Given the description of an element on the screen output the (x, y) to click on. 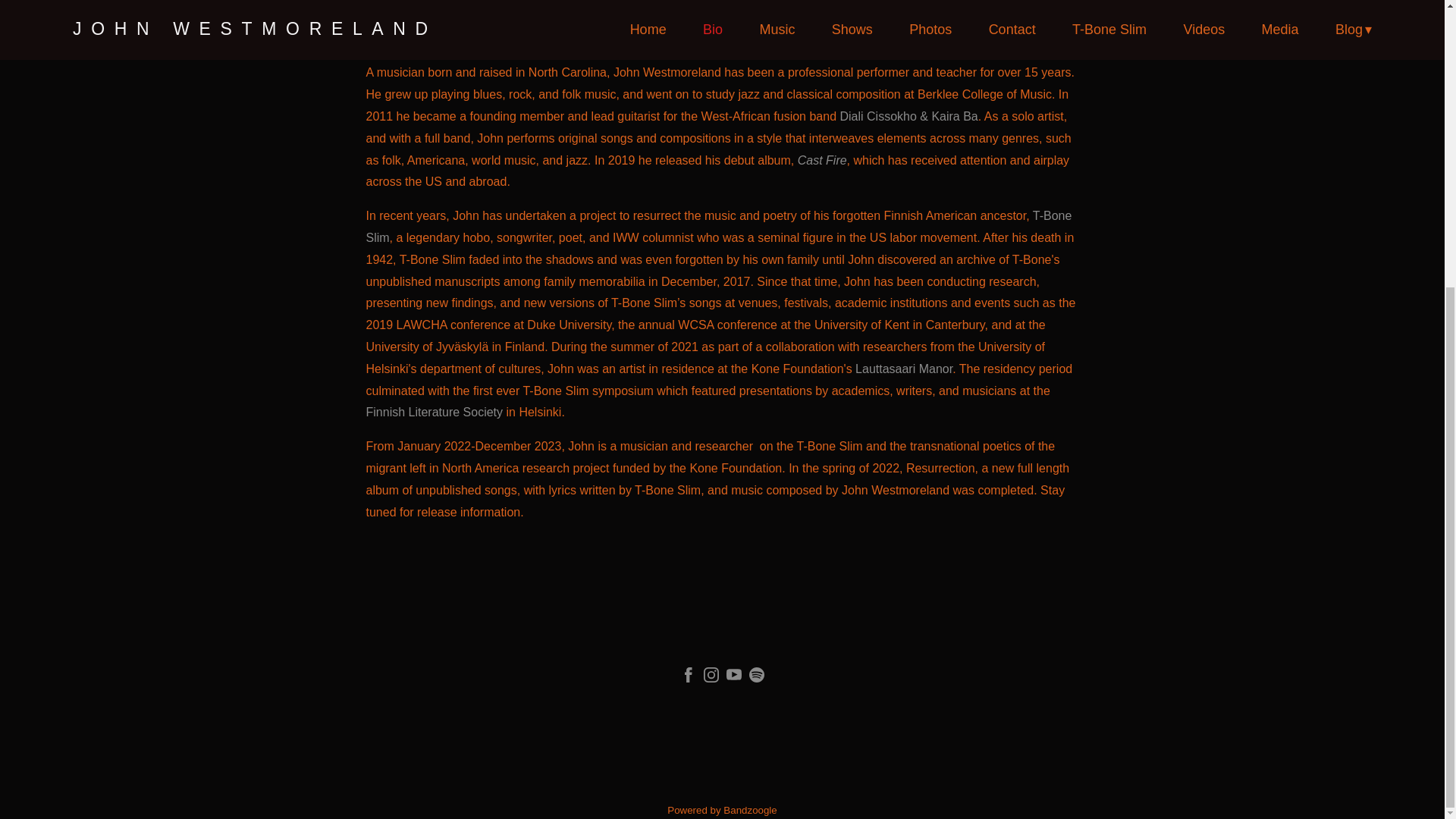
Powered by Bandzoogle (721, 809)
Cast Fire (822, 160)
Powered by Bandzoogle (721, 809)
T-Bone Slim (718, 226)
Lauttasaari Manor (904, 368)
Finnish Literature Society (433, 411)
